Given the description of an element on the screen output the (x, y) to click on. 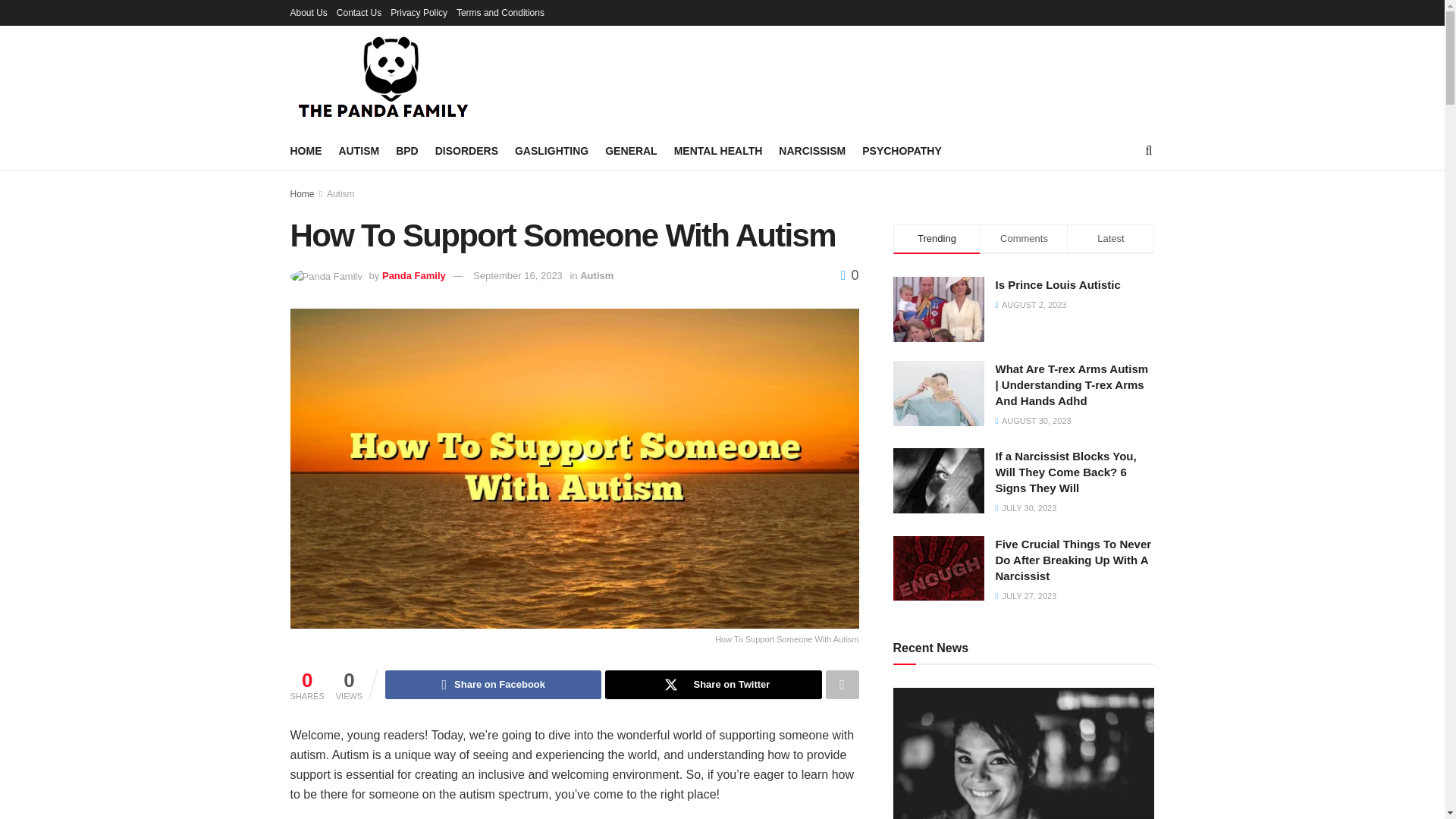
Autism (595, 275)
PSYCHOPATHY (901, 150)
Privacy Policy (418, 12)
GASLIGHTING (551, 150)
Panda Family (413, 275)
Terms and Conditions (500, 12)
September 16, 2023 (517, 275)
Contact Us (358, 12)
DISORDERS (466, 150)
MENTAL HEALTH (718, 150)
Home (301, 194)
GENERAL (630, 150)
About Us (307, 12)
Share on Twitter (713, 684)
AUTISM (357, 150)
